Given the description of an element on the screen output the (x, y) to click on. 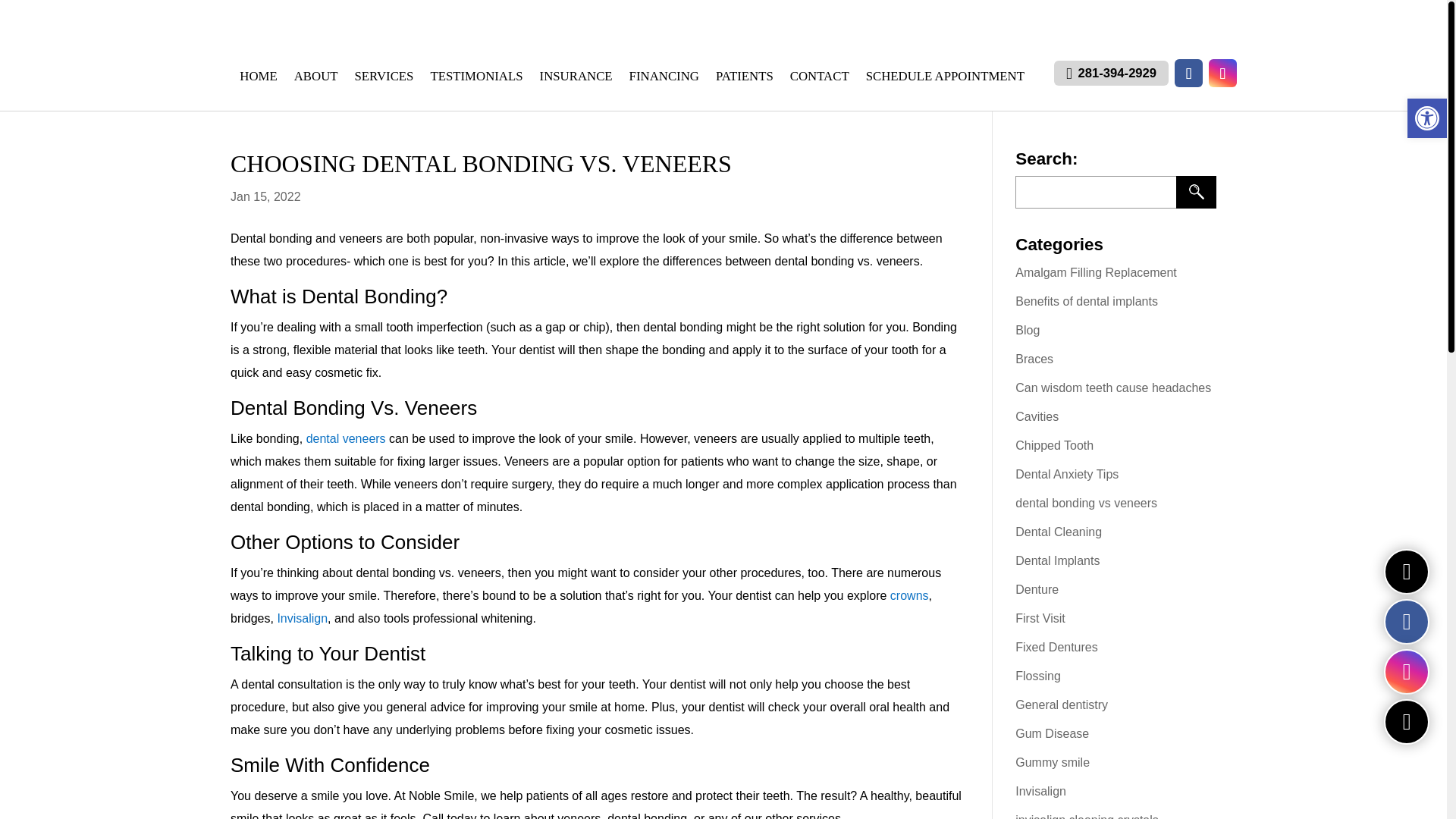
Follow on Facebook (1188, 72)
Accessibility Tools (1427, 118)
SERVICES (384, 81)
Search (1195, 192)
Follow on Instagram (1222, 72)
